Given the description of an element on the screen output the (x, y) to click on. 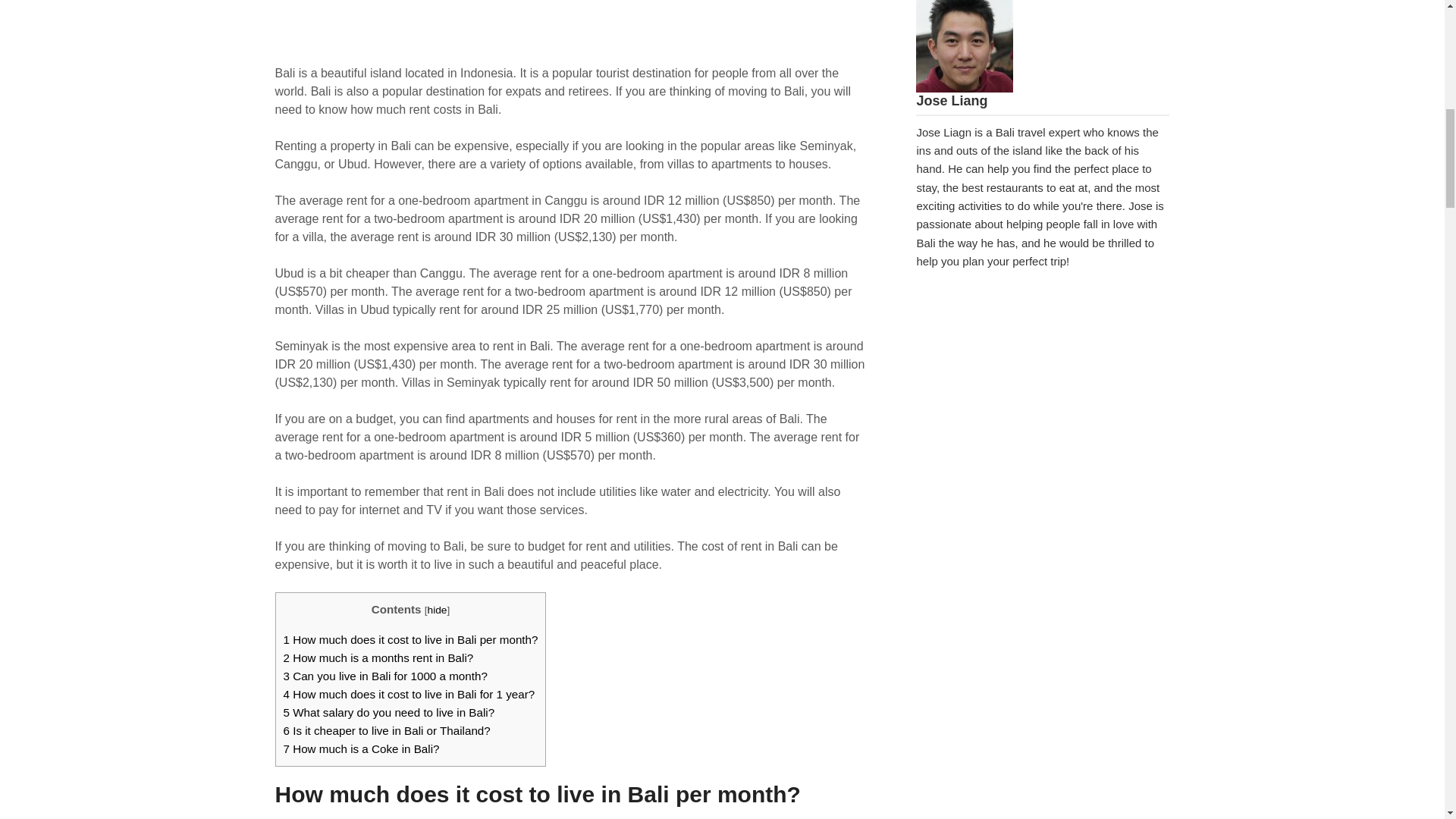
hide (437, 609)
4 How much does it cost to live in Bali for 1 year? (409, 694)
1 How much does it cost to live in Bali per month? (410, 639)
5 What salary do you need to live in Bali? (389, 712)
6 Is it cheaper to live in Bali or Thailand? (386, 730)
3 Can you live in Bali for 1000 a month? (385, 675)
2 How much is a months rent in Bali? (378, 657)
7 How much is a Coke in Bali? (361, 748)
